Given the description of an element on the screen output the (x, y) to click on. 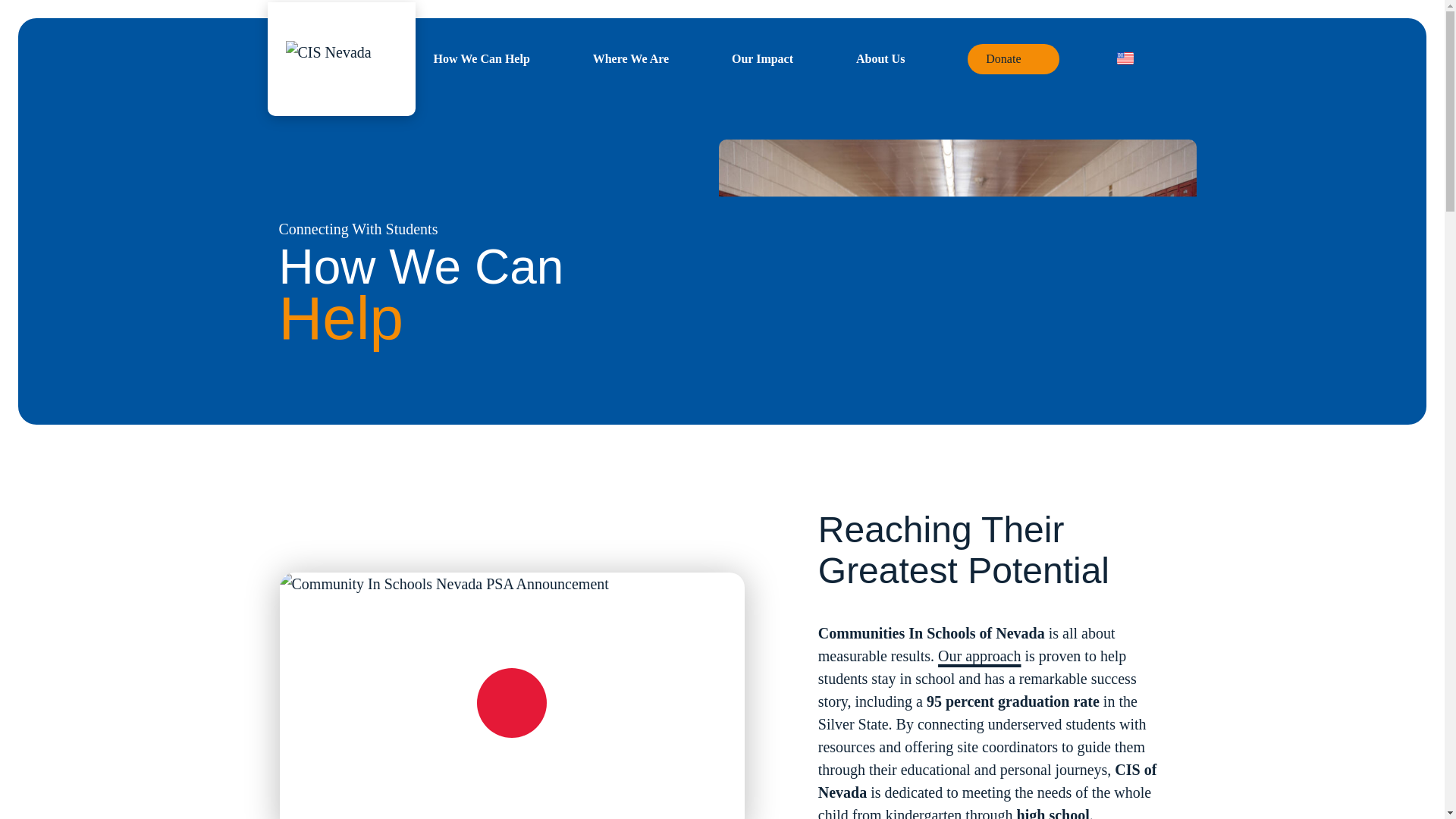
Where We Are (630, 59)
About Us (880, 59)
How We Can Help (481, 59)
Our approach (978, 655)
Our Impact (762, 59)
Donate (1013, 59)
